Given the description of an element on the screen output the (x, y) to click on. 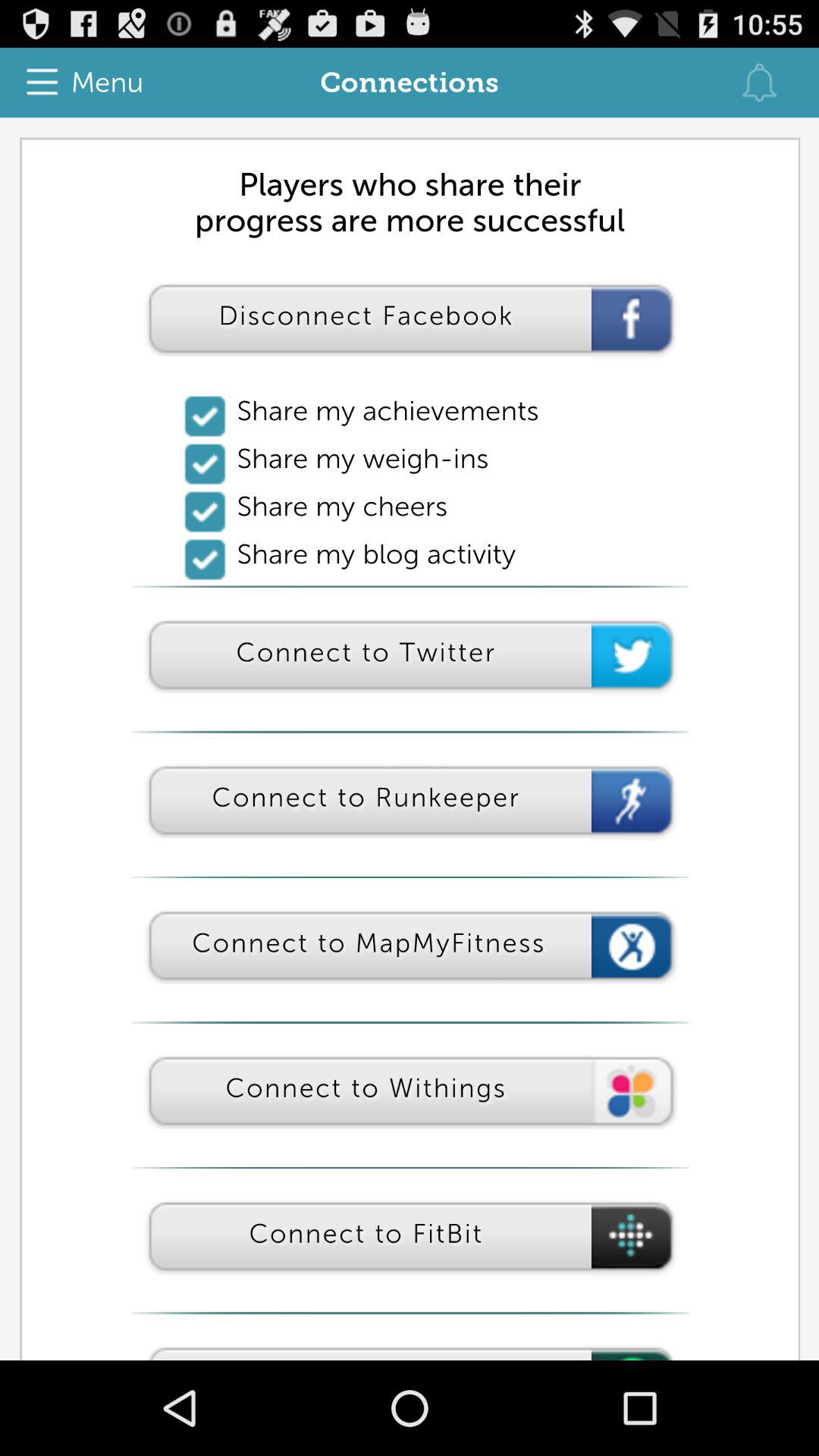
connection page (409, 738)
